Given the description of an element on the screen output the (x, y) to click on. 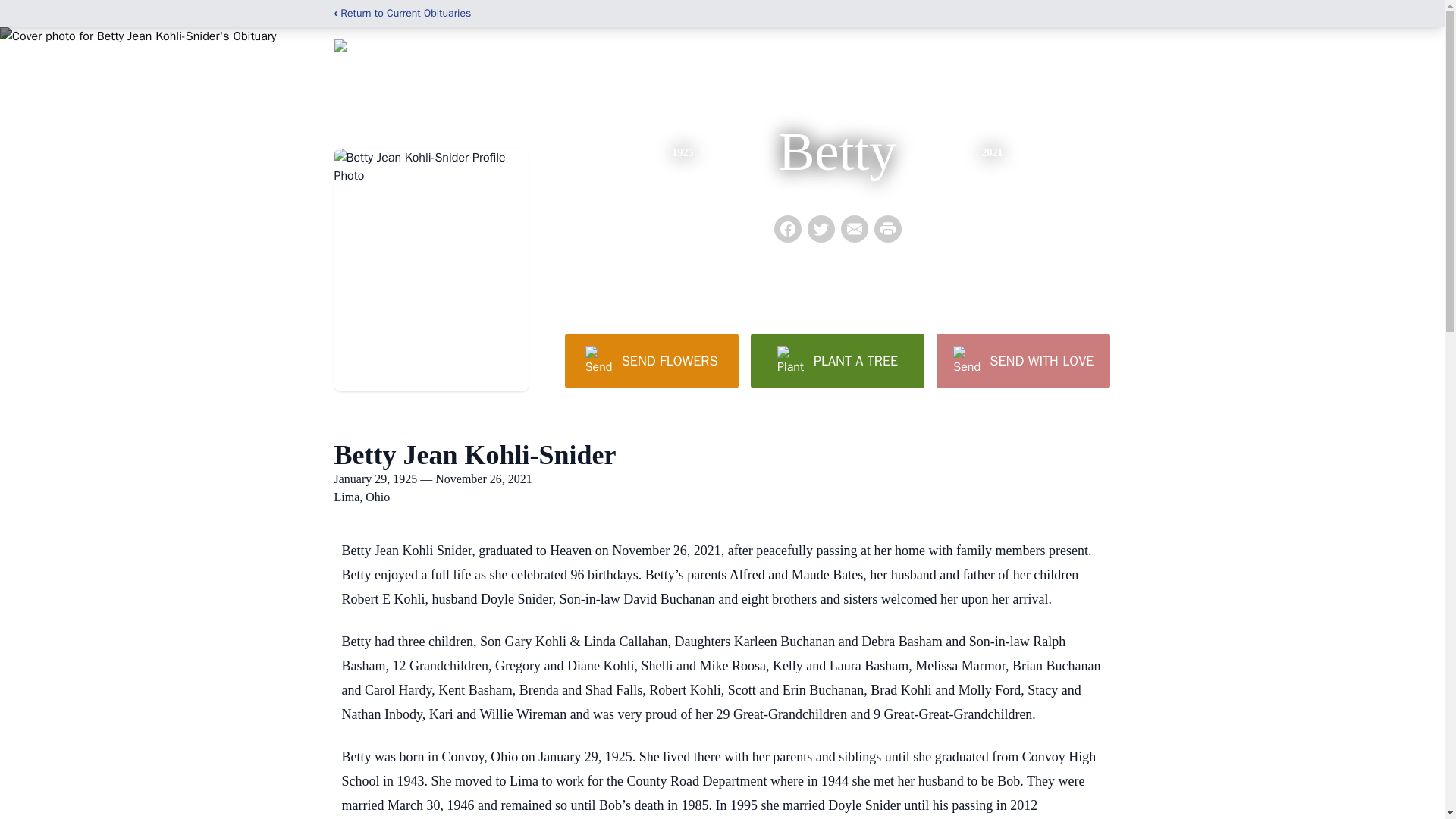
SEND FLOWERS (651, 360)
PLANT A TREE (837, 360)
SEND WITH LOVE (1022, 360)
